Given the description of an element on the screen output the (x, y) to click on. 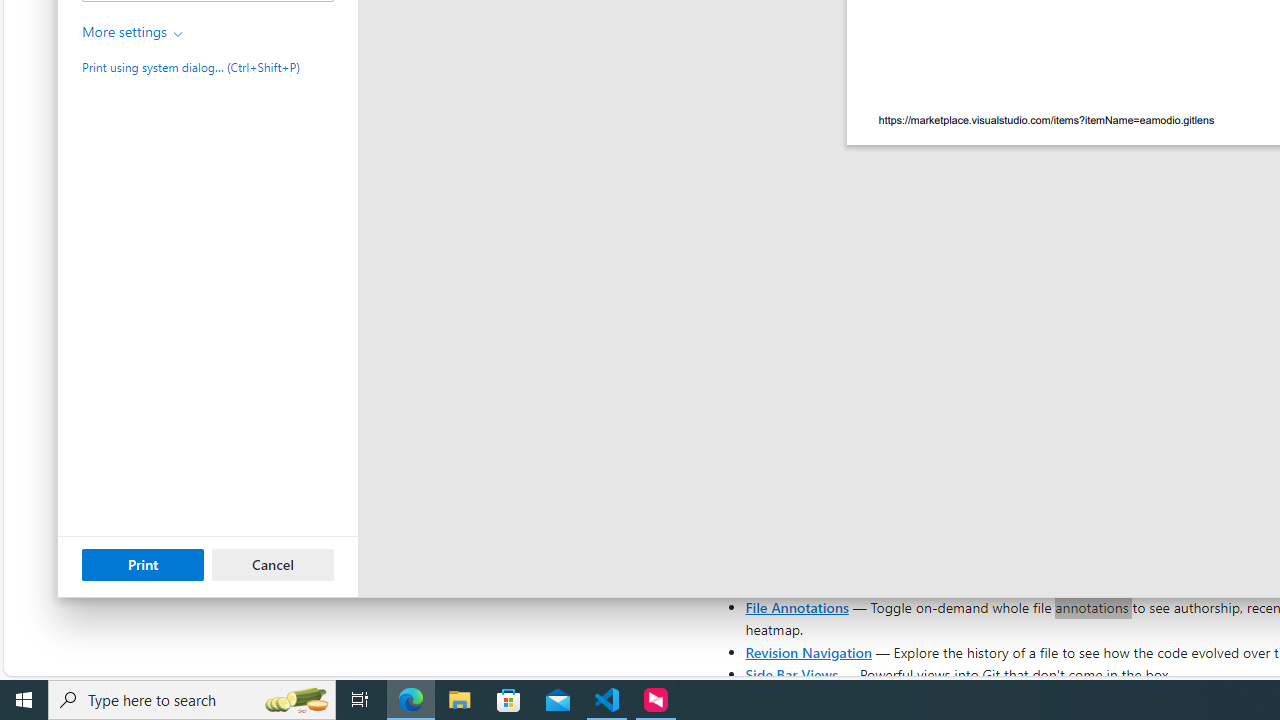
Cancel (273, 564)
Class: c0183 (178, 34)
More settings (133, 32)
Print (142, 564)
